Given the description of an element on the screen output the (x, y) to click on. 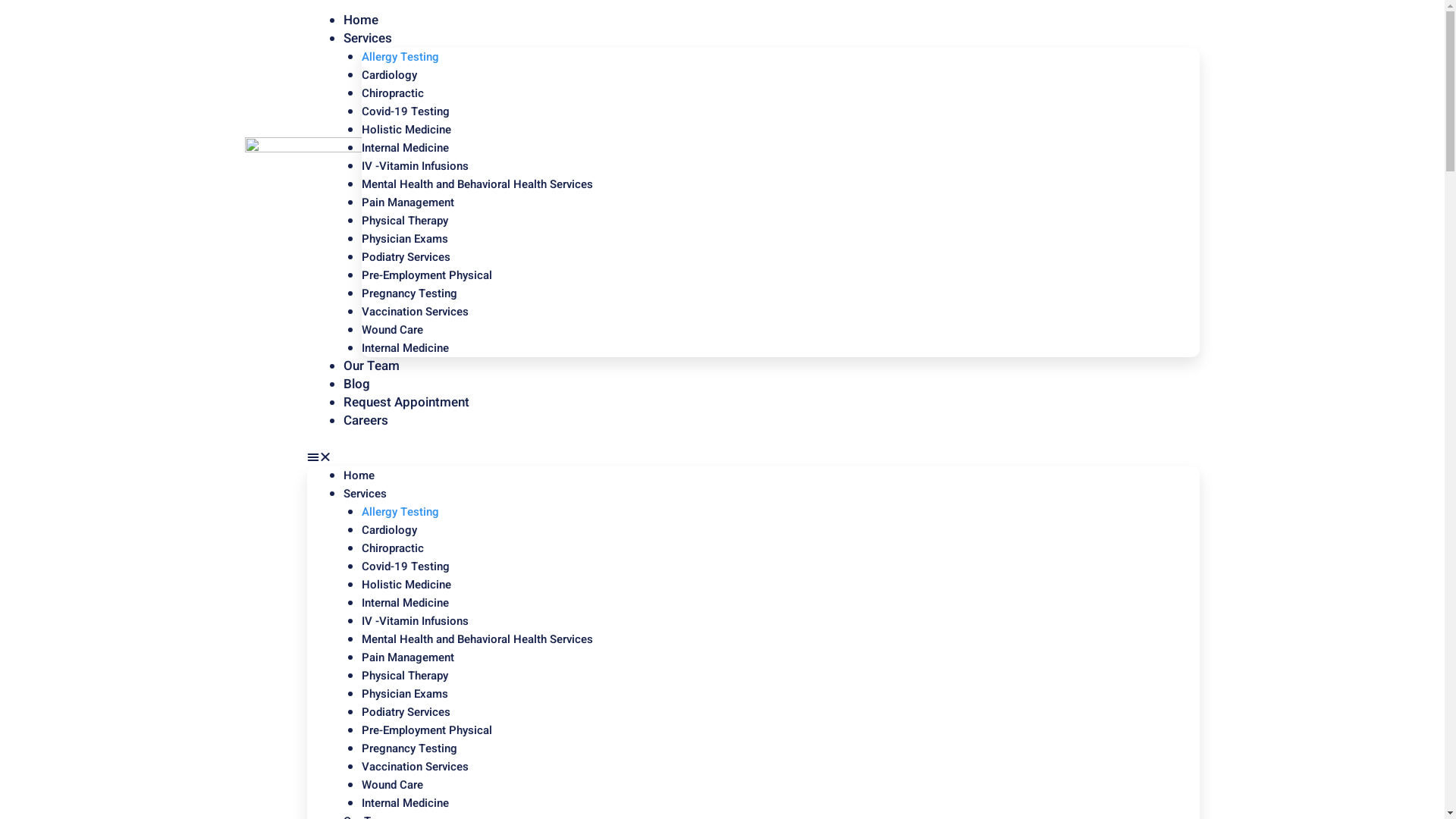
Vaccination Services Element type: text (414, 766)
IV -Vitamin Infusions Element type: text (414, 165)
Cardiology Element type: text (389, 529)
Cardiology Element type: text (389, 74)
Internal Medicine Element type: text (404, 802)
IV -Vitamin Infusions Element type: text (414, 620)
Our Team Element type: text (371, 365)
Physician Exams Element type: text (404, 238)
Podiatry Services Element type: text (405, 256)
Home Element type: text (358, 475)
Chiropractic Element type: text (392, 547)
Request Appointment Element type: text (406, 401)
Pain Management Element type: text (407, 202)
Internal Medicine Element type: text (404, 147)
Mental Health and Behavioral Health Services Element type: text (477, 638)
Podiatry Services Element type: text (405, 711)
Services Element type: text (364, 493)
Covid-19 Testing Element type: text (405, 111)
Mental Health and Behavioral Health Services Element type: text (477, 183)
Holistic Medicine Element type: text (406, 584)
Vaccination Services Element type: text (414, 311)
Pre-Employment Physical Element type: text (426, 274)
Chiropractic Element type: text (392, 92)
Physical Therapy Element type: text (404, 220)
Pre-Employment Physical Element type: text (426, 729)
Wound Care Element type: text (392, 329)
Holistic Medicine Element type: text (406, 129)
Physician Exams Element type: text (404, 693)
Physical Therapy Element type: text (404, 675)
Pregnancy Testing Element type: text (409, 293)
Pregnancy Testing Element type: text (409, 748)
Wound Care Element type: text (392, 784)
Allergy Testing Element type: text (400, 56)
Blog Element type: text (356, 383)
Careers Element type: text (365, 420)
Services Element type: text (367, 37)
Pain Management Element type: text (407, 657)
Internal Medicine Element type: text (404, 347)
Allergy Testing Element type: text (400, 511)
Internal Medicine Element type: text (404, 602)
Covid-19 Testing Element type: text (405, 566)
